Given the description of an element on the screen output the (x, y) to click on. 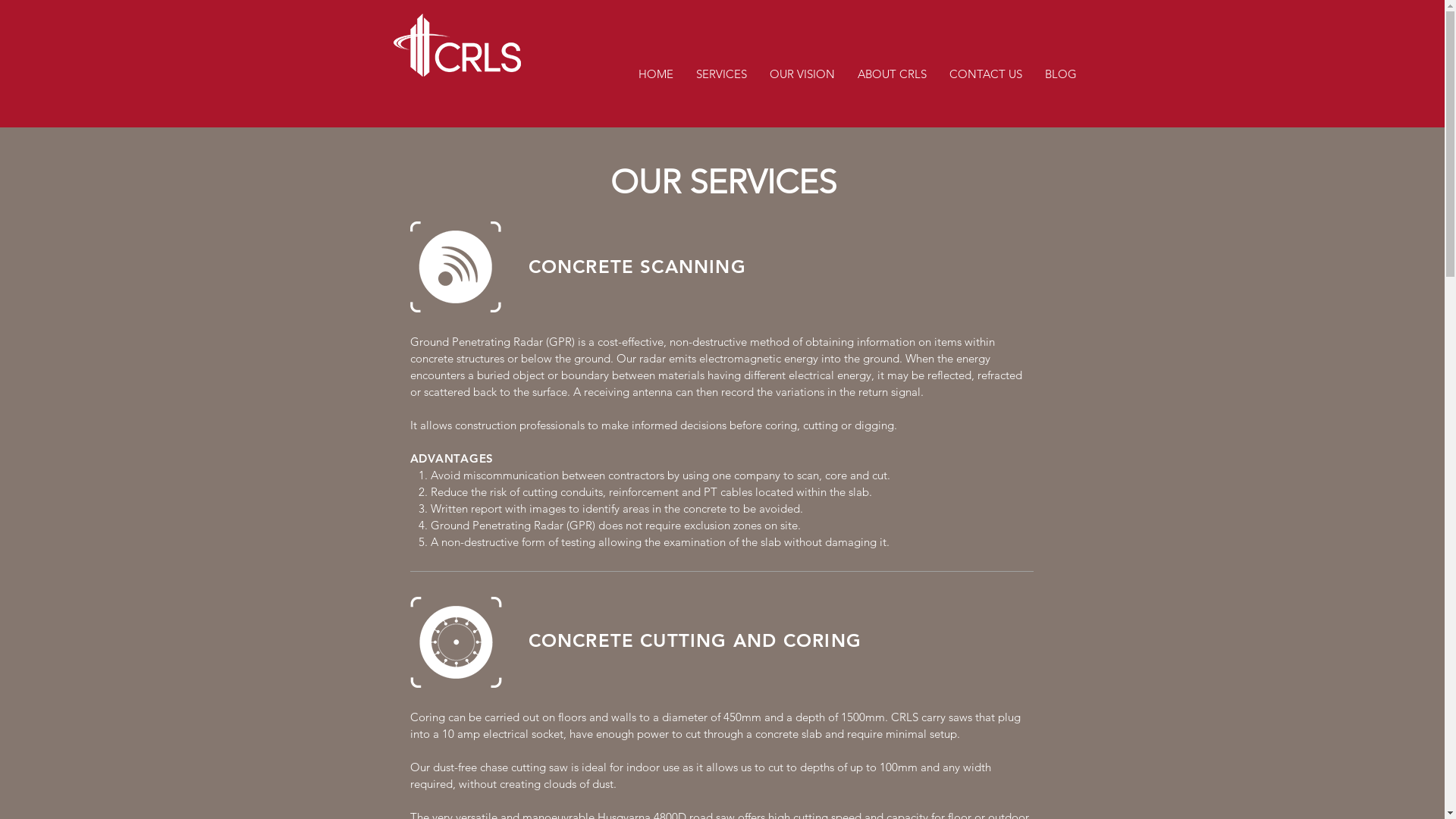
HOME Element type: text (655, 73)
OUR VISION Element type: text (802, 73)
ABOUT CRLS Element type: text (892, 73)
SERVICES Element type: text (720, 73)
BLOG Element type: text (1059, 73)
CONTACT US Element type: text (984, 73)
